Given the description of an element on the screen output the (x, y) to click on. 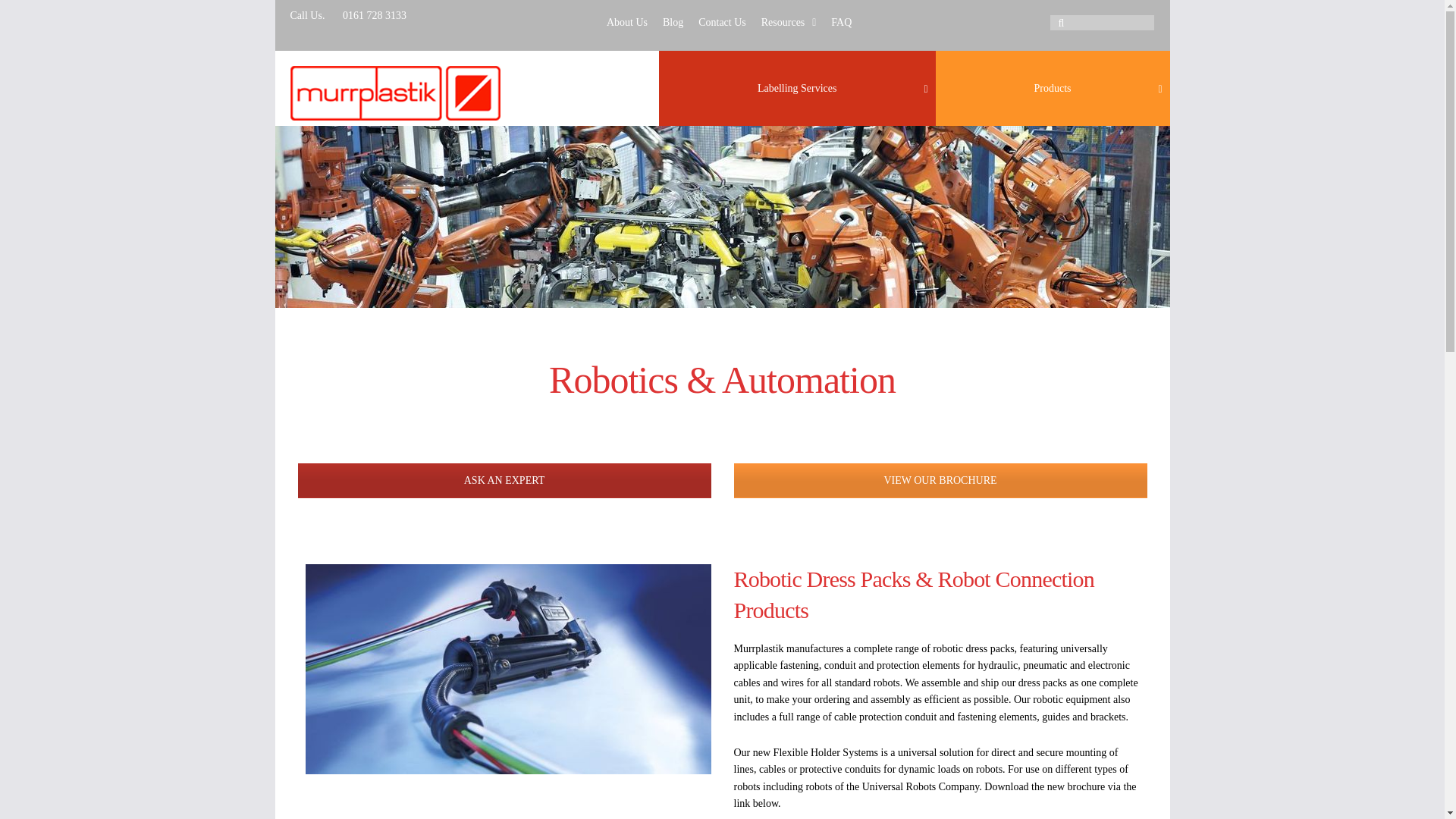
Products (728, 21)
About Us (1053, 88)
Resources (626, 21)
Labelling Services (789, 21)
Products (797, 88)
0161 728 3133 (1053, 88)
Contact Us (366, 15)
FAQ (722, 21)
Blog (841, 21)
Murrplastik Labelling (672, 21)
Labelling Services (394, 93)
